Given the description of an element on the screen output the (x, y) to click on. 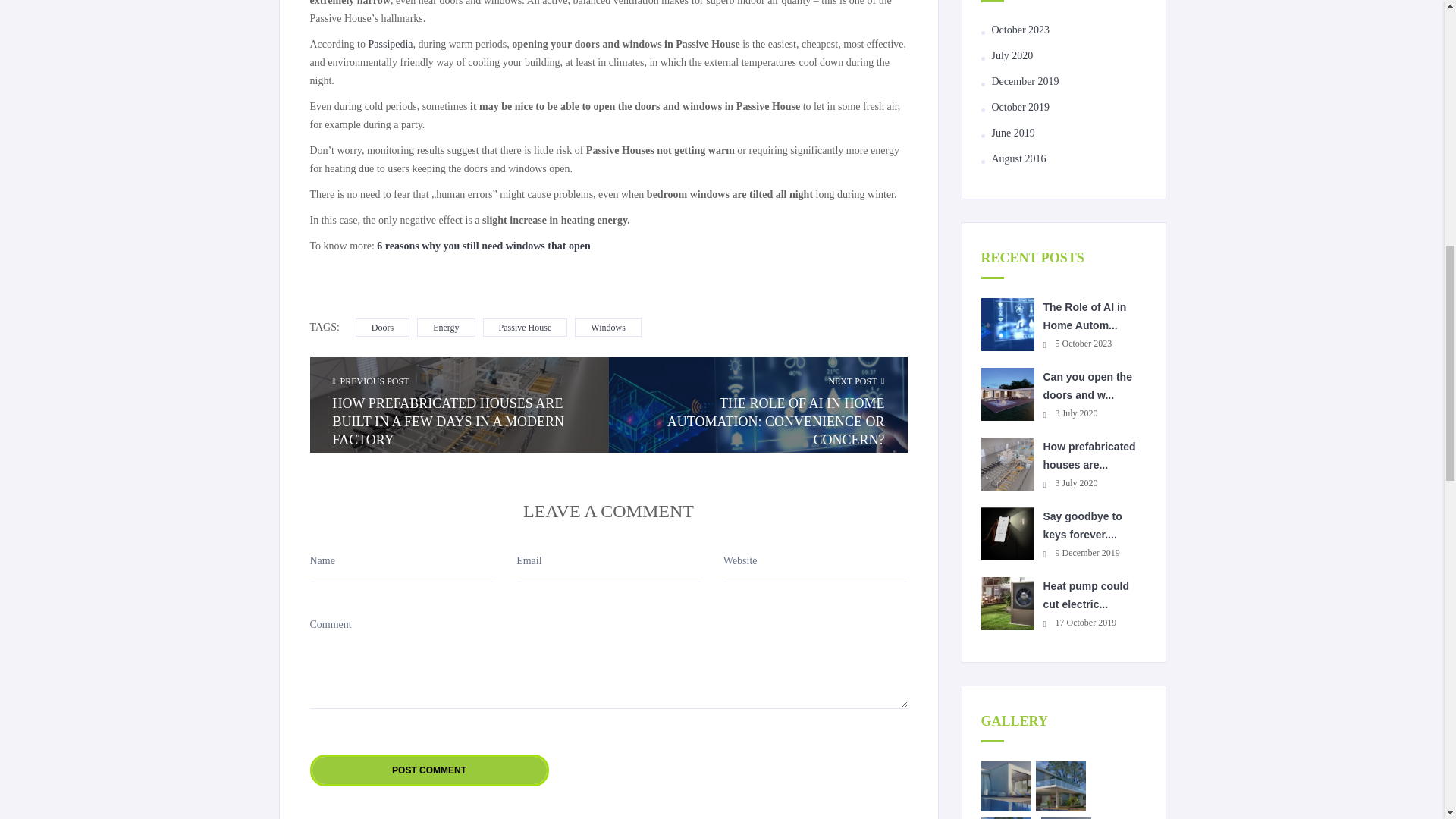
Passipedia (390, 43)
THE ROLE OF AI IN HOME AUTOMATION: CONVENIENCE OR CONCERN? (756, 420)
Doors (382, 327)
Energy (445, 327)
POST COMMENT (428, 770)
6 reasons why you still need windows that open (483, 245)
Windows (608, 327)
aweawe (1005, 786)
Passive House (525, 327)
The Role of AI in Home Automation: Convenience or Concern? (1084, 316)
